Given the description of an element on the screen output the (x, y) to click on. 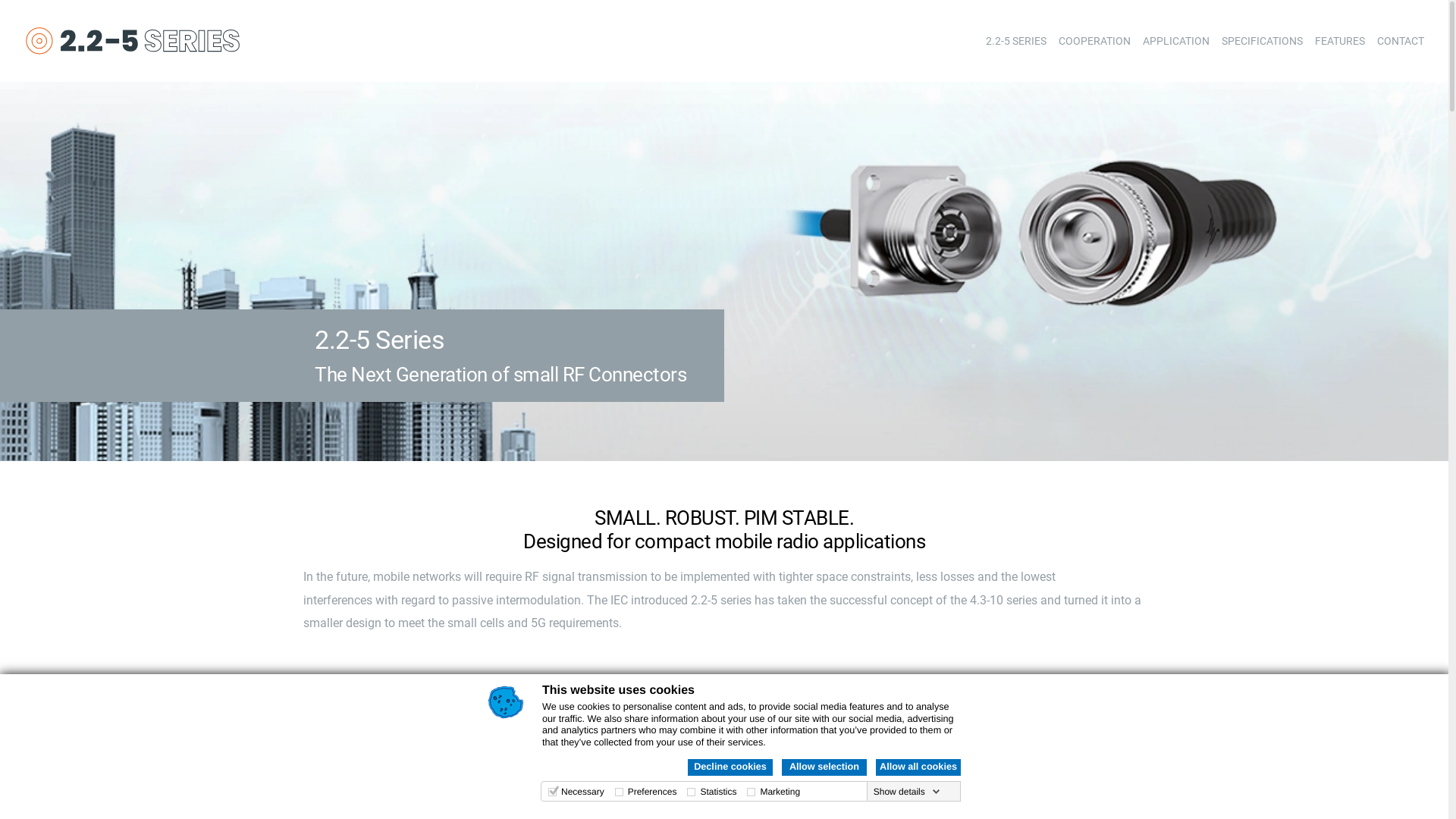
Decline cookies Element type: text (729, 767)
2.2-5 SERIES Element type: text (1015, 40)
APPLICATION Element type: text (1175, 40)
CONTACT Element type: text (1400, 40)
SPECIFICATIONS Element type: text (1261, 40)
Show details Element type: text (906, 791)
Allow all cookies Element type: text (917, 767)
Allow selection Element type: text (823, 767)
FEATURES Element type: text (1339, 40)
COOPERATION Element type: text (1094, 40)
